Given the description of an element on the screen output the (x, y) to click on. 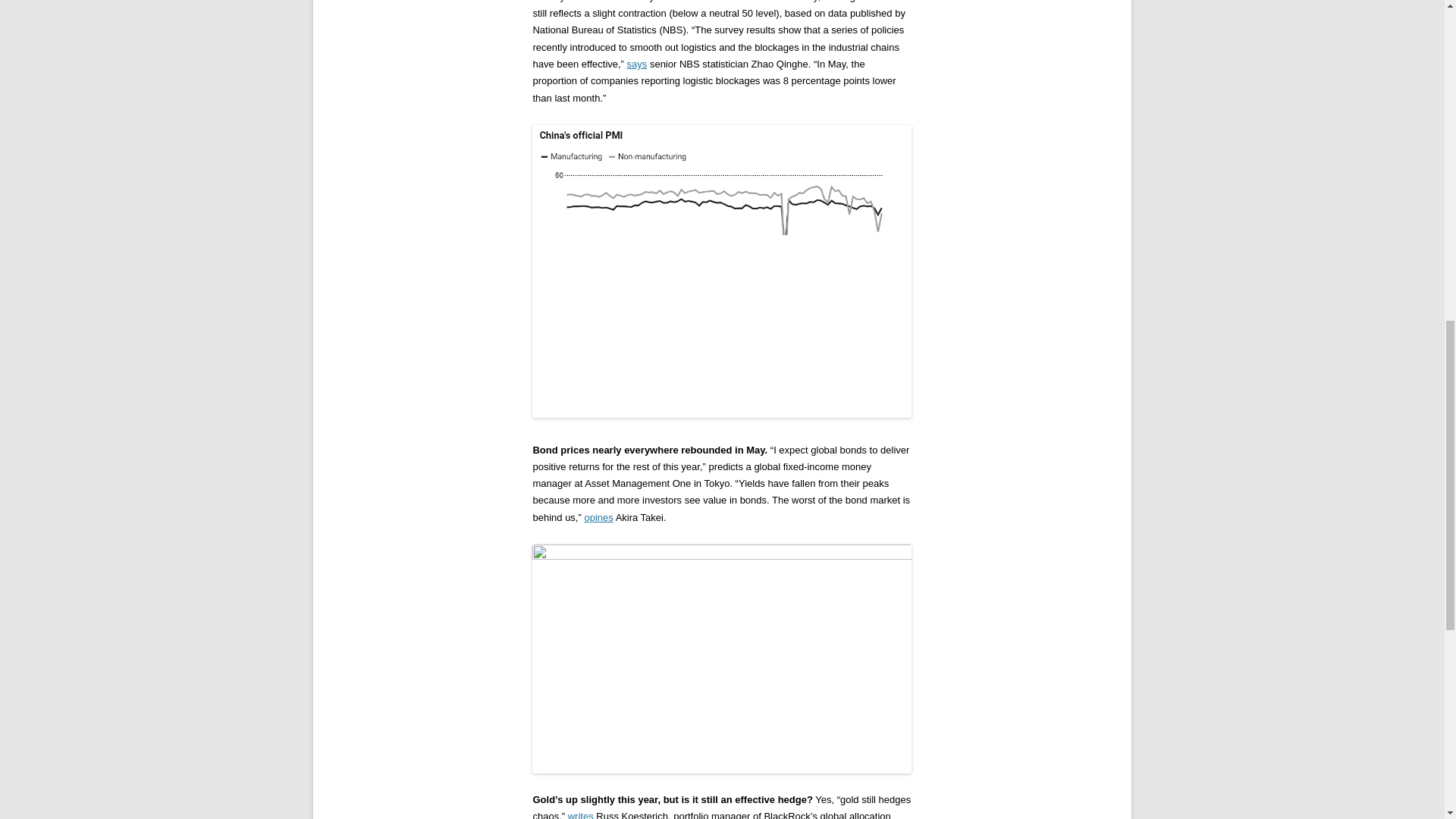
says (637, 63)
writes (580, 814)
opines (597, 517)
